Given the description of an element on the screen output the (x, y) to click on. 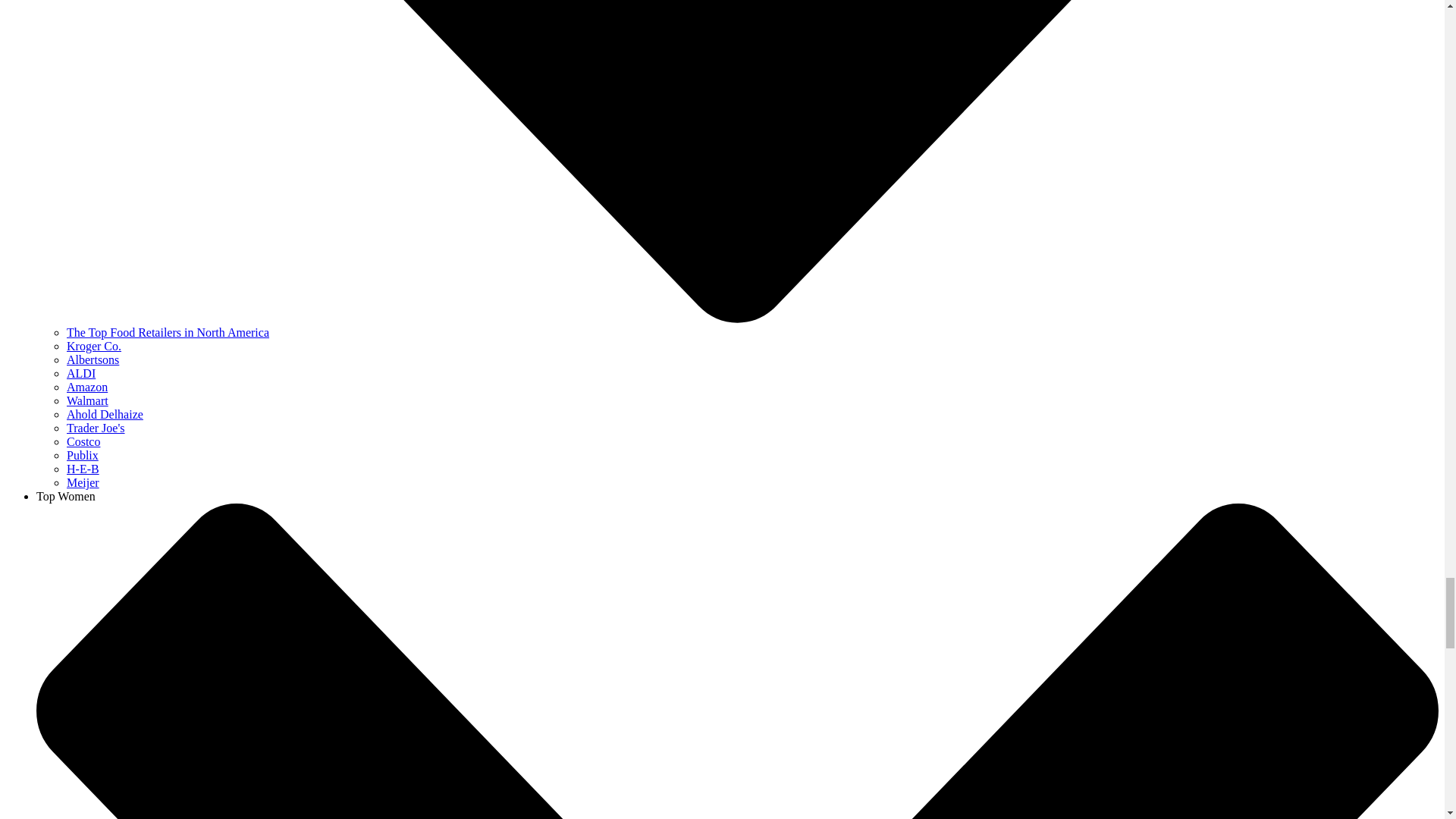
Trader Joe's (95, 427)
Albertsons (92, 359)
Meijer (82, 481)
ALDI (81, 373)
Ahold Delhaize (104, 413)
H-E-B (82, 468)
Costco (83, 440)
Top Women (66, 495)
Publix (82, 454)
Amazon (86, 386)
